Given the description of an element on the screen output the (x, y) to click on. 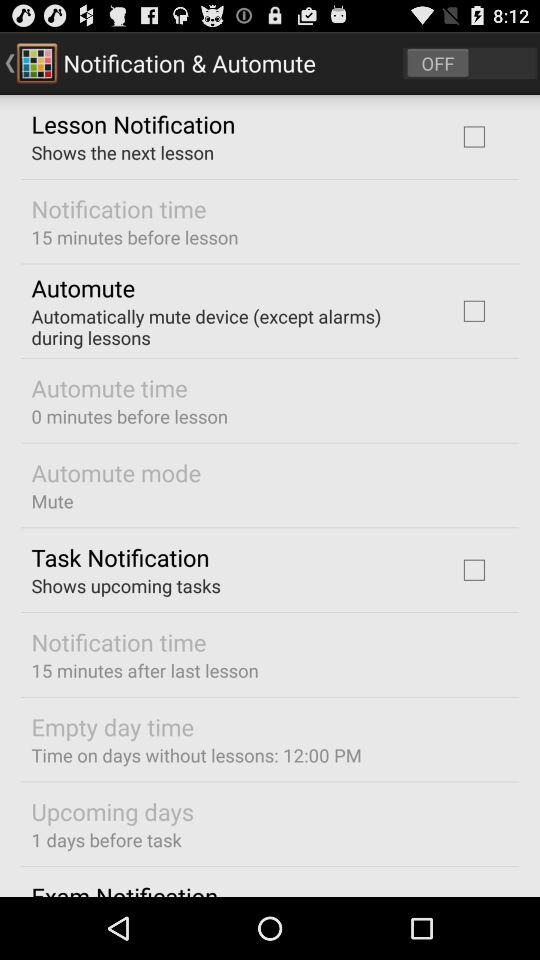
turn on the item to the right of notification & automute app (470, 62)
